Given the description of an element on the screen output the (x, y) to click on. 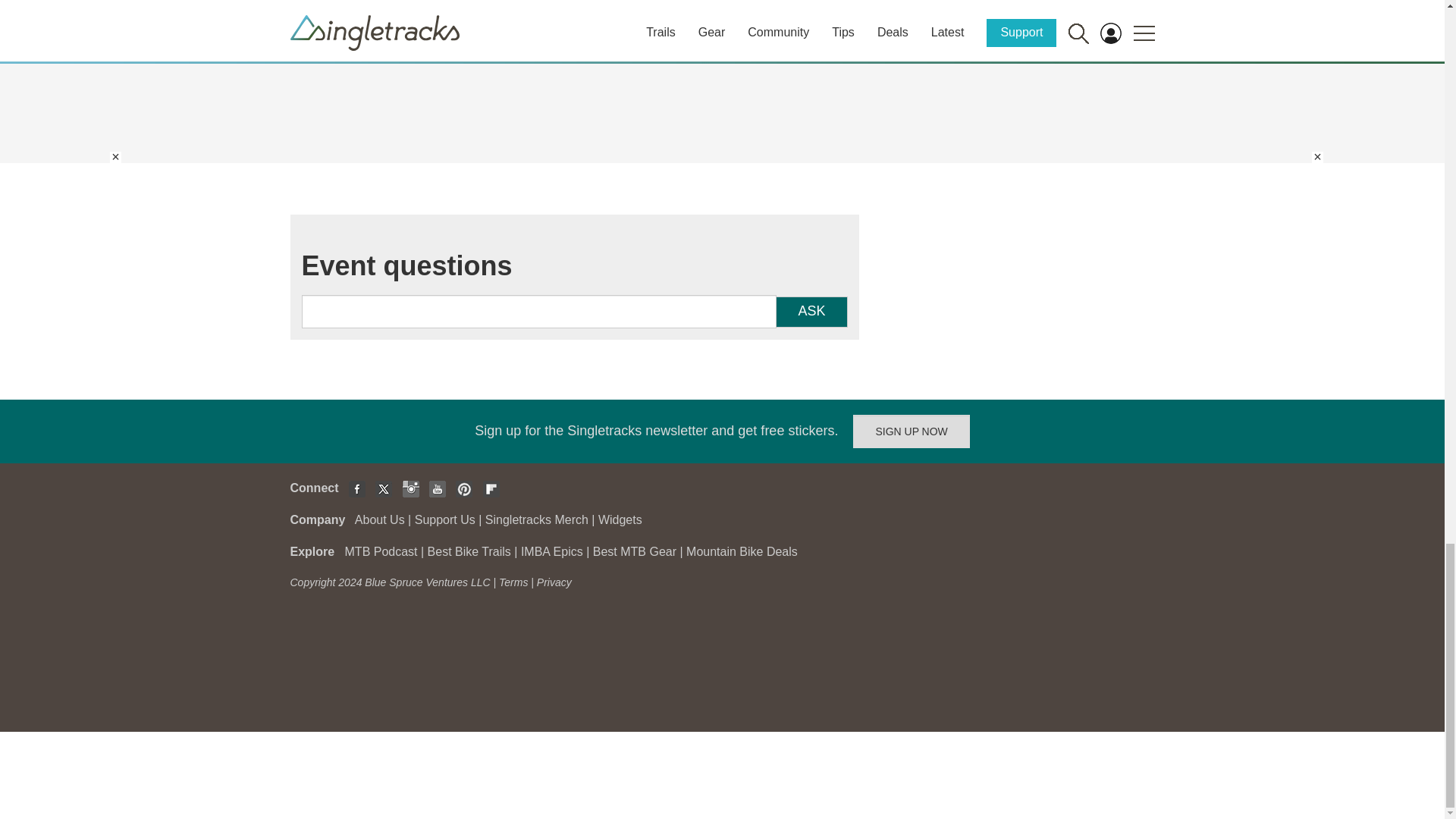
SIGN UP NOW (911, 430)
